Given the description of an element on the screen output the (x, y) to click on. 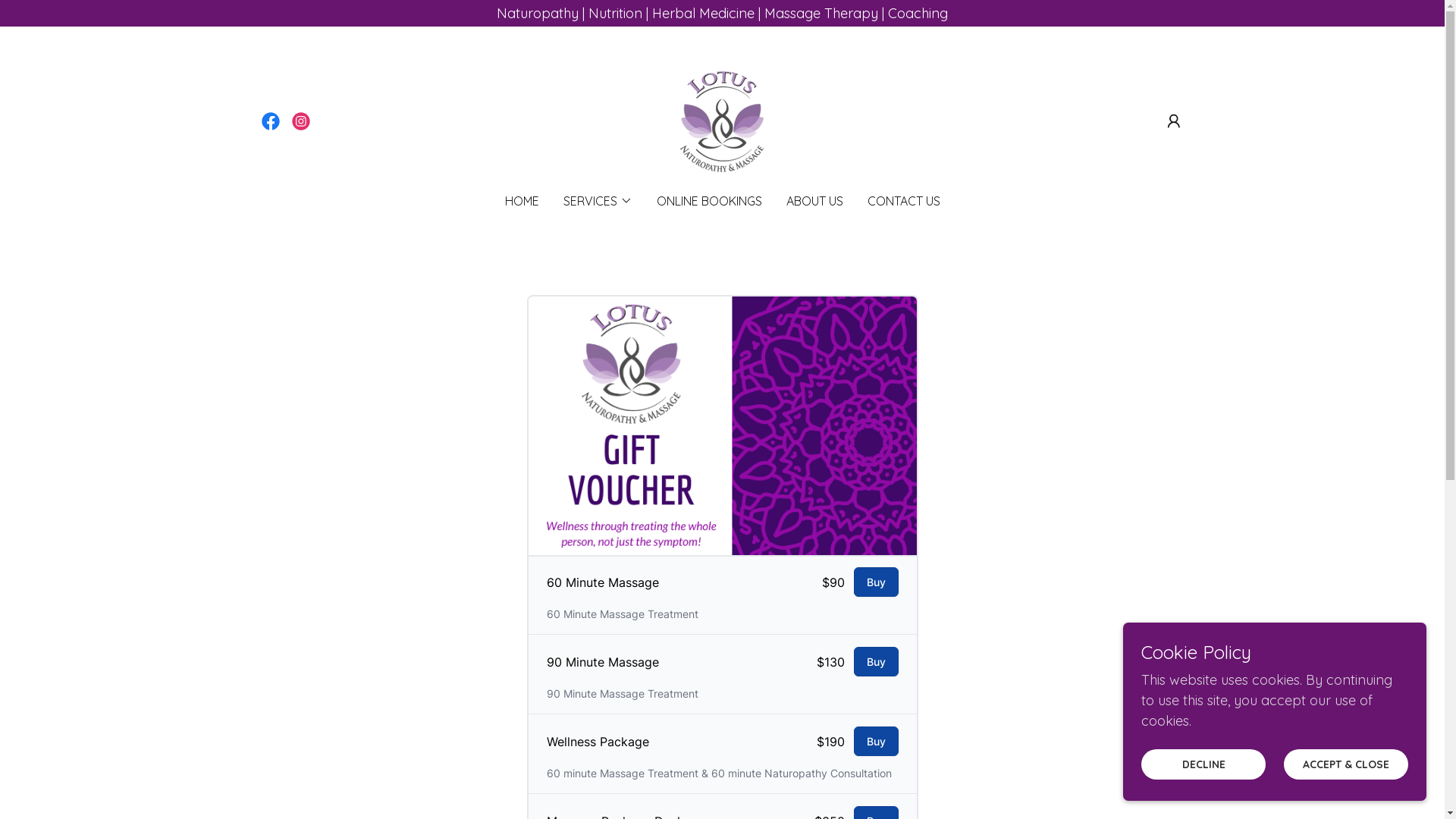
West Woods Health & Medical Center Element type: hover (721, 119)
CONTACT US Element type: text (903, 200)
DECLINE Element type: text (1203, 764)
ABOUT US Element type: text (814, 200)
HOME Element type: text (521, 200)
ONLINE BOOKINGS Element type: text (709, 200)
ACCEPT & CLOSE Element type: text (1345, 764)
SERVICES Element type: text (596, 200)
